Given the description of an element on the screen output the (x, y) to click on. 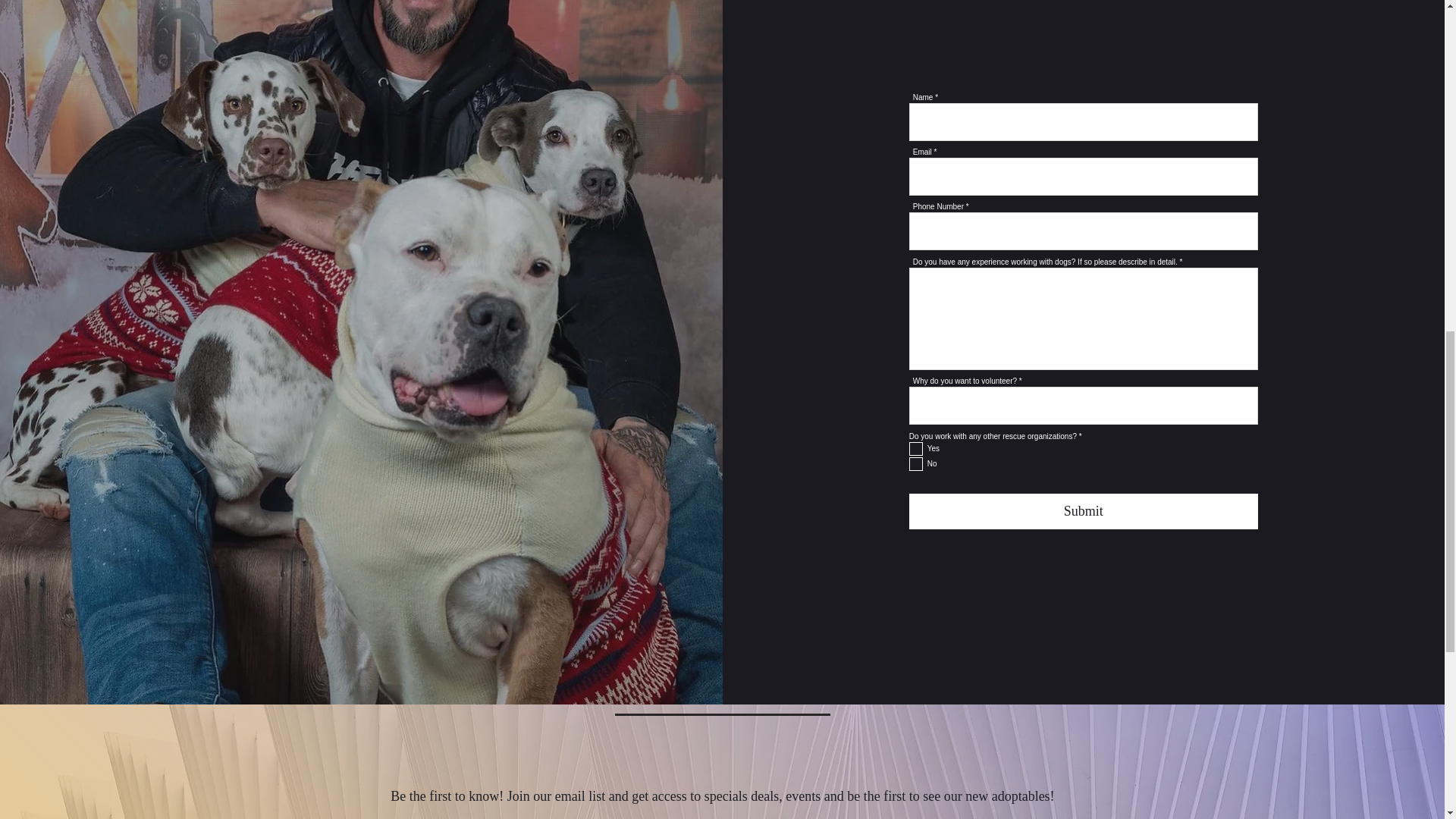
Submit (1082, 511)
